Given the description of an element on the screen output the (x, y) to click on. 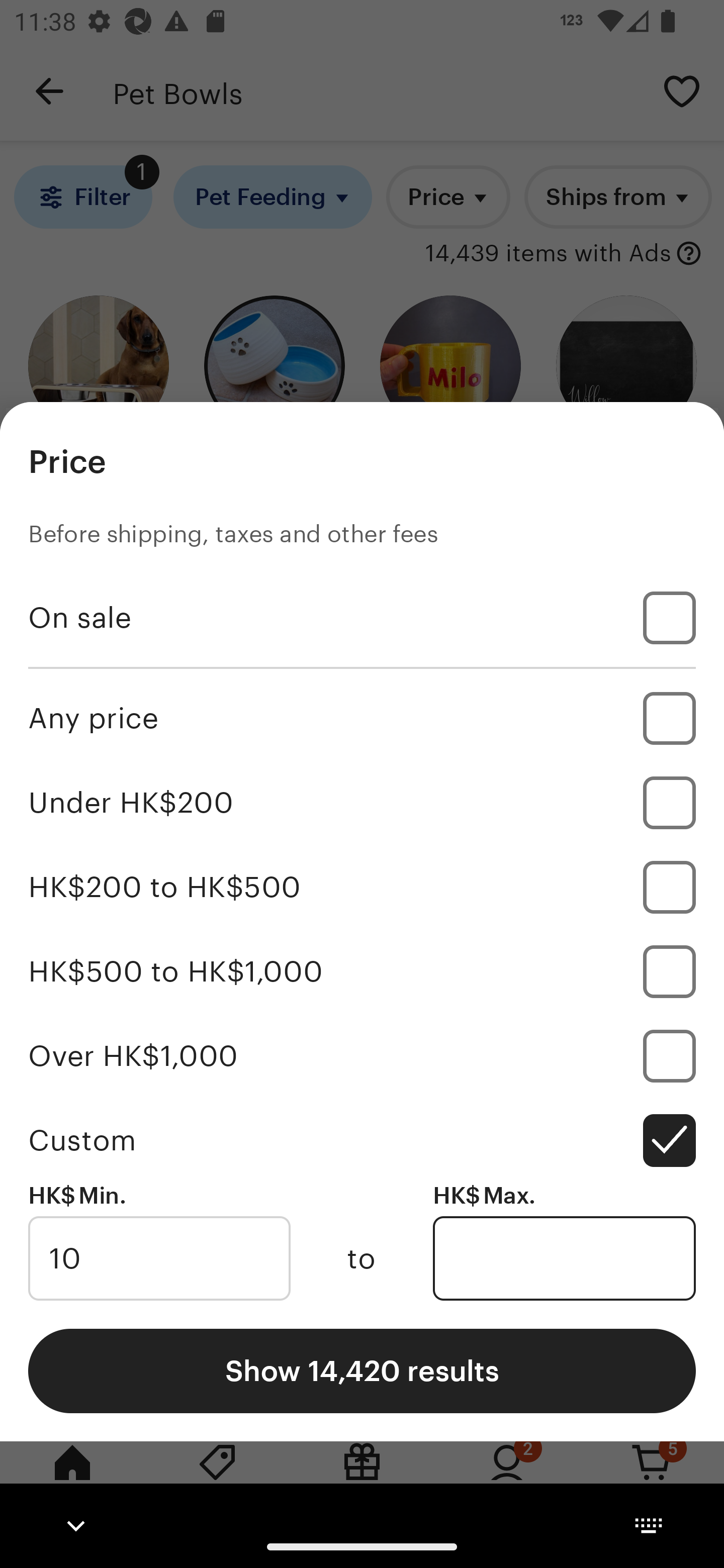
On sale (362, 617)
Any price (362, 717)
Under HK$200 (362, 802)
HK$200 to HK$500 (362, 887)
HK$500 to HK$1,000 (362, 970)
Over HK$1,000 (362, 1054)
Custom (362, 1139)
10 (159, 1257)
Show 14,420 results (361, 1370)
